Given the description of an element on the screen output the (x, y) to click on. 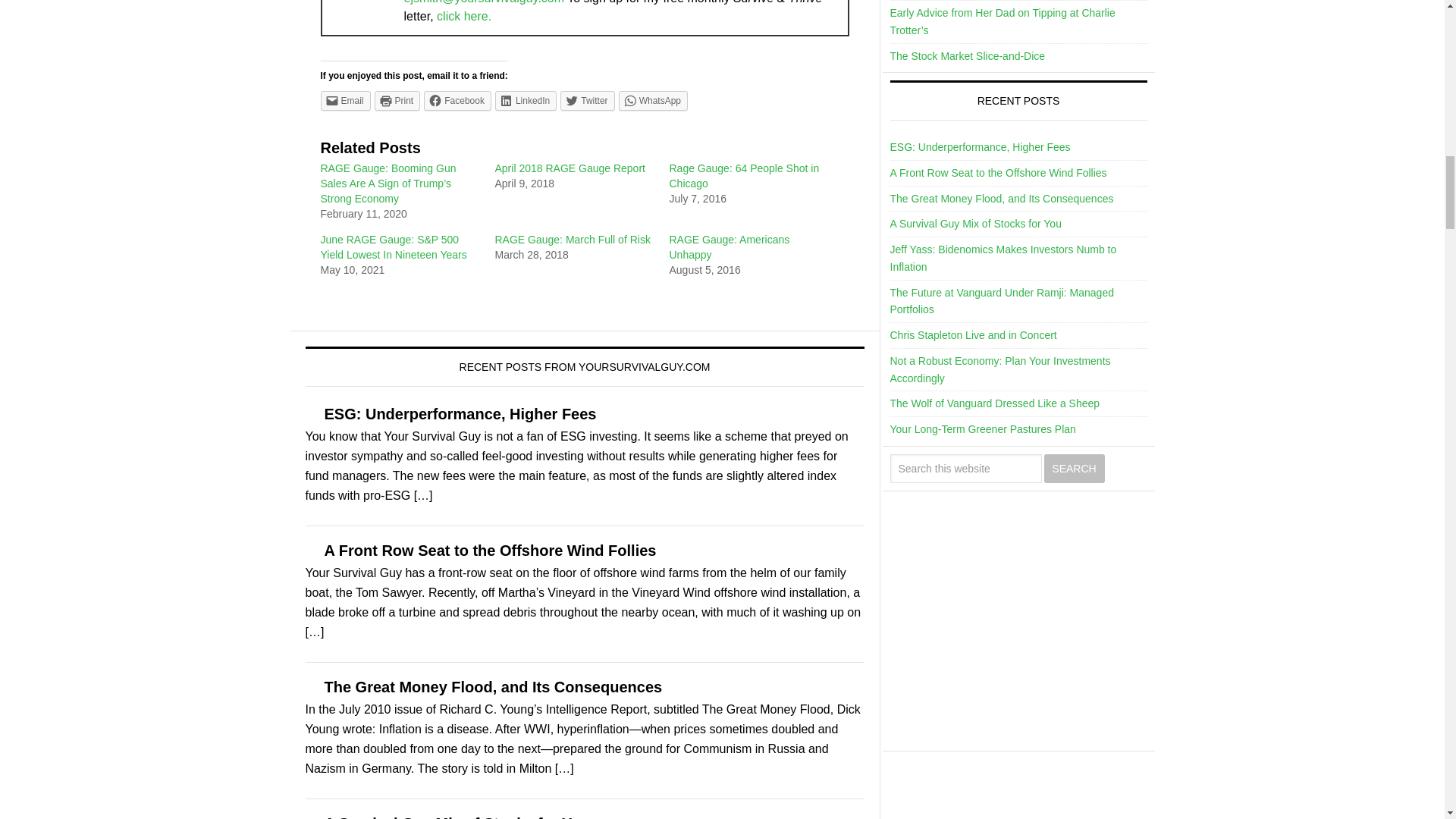
Search (1073, 468)
Click to email this to a friend (344, 100)
Click to print (397, 100)
Click to share on Twitter (587, 100)
Search (1073, 468)
Click to share on WhatsApp (652, 100)
Click to share on Facebook (457, 100)
Rage Gauge: 64 People Shot in Chicago (743, 175)
Click to share on LinkedIn (525, 100)
April 2018 RAGE Gauge Report (570, 168)
